Given the description of an element on the screen output the (x, y) to click on. 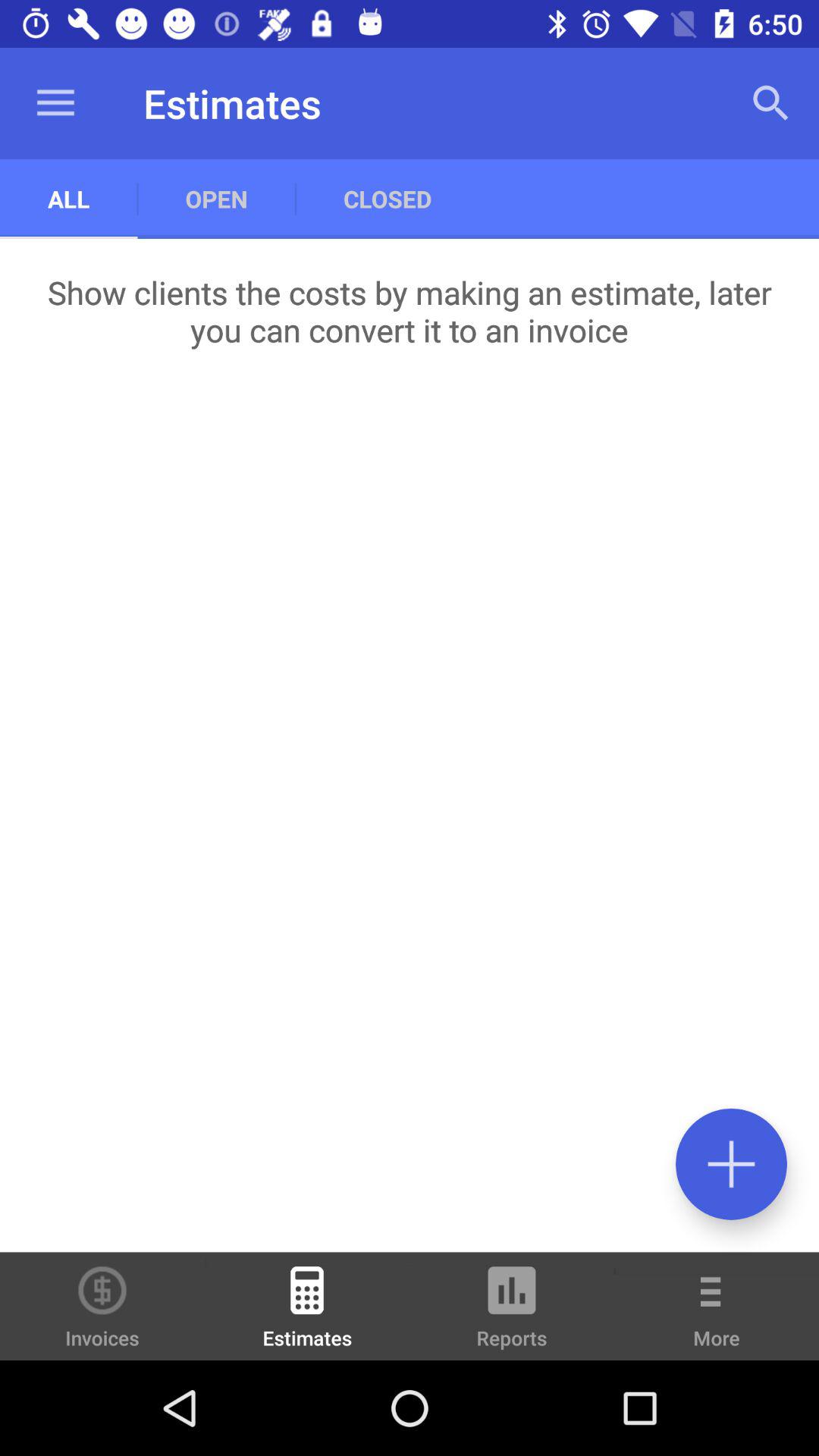
launch the item to the right of the reports icon (716, 1317)
